Given the description of an element on the screen output the (x, y) to click on. 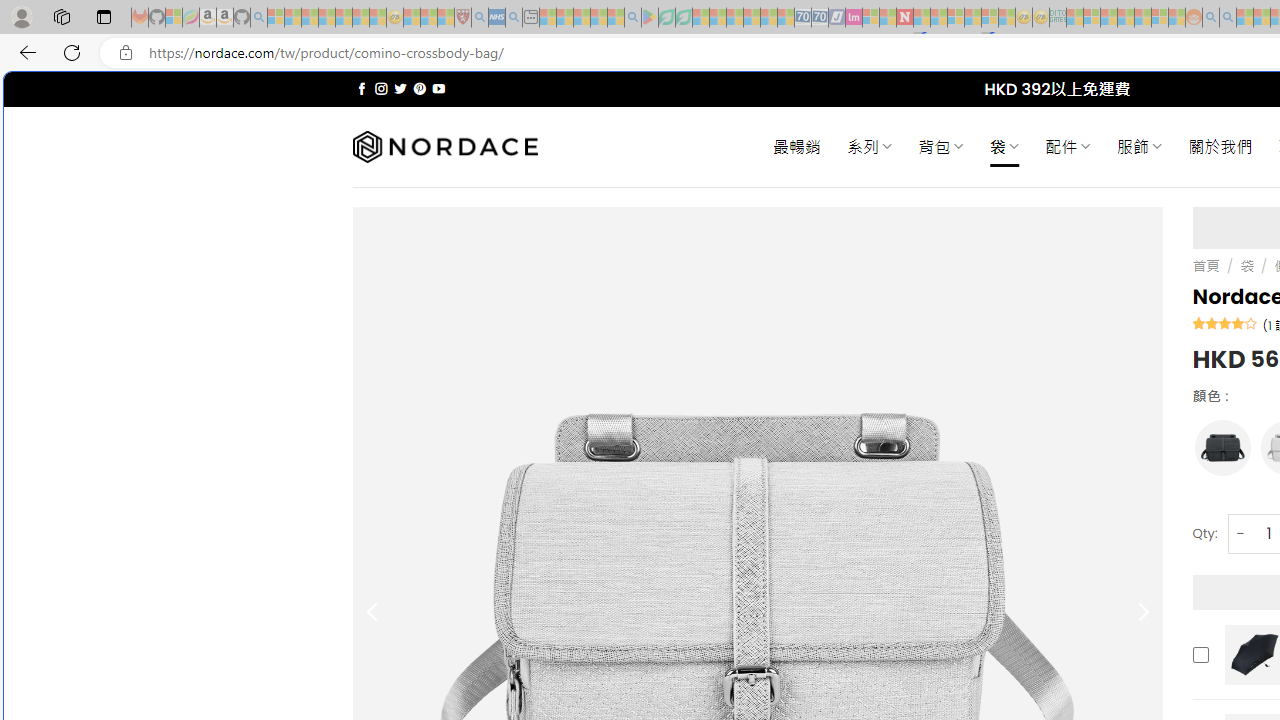
Follow on Pinterest (419, 88)
